Given the description of an element on the screen output the (x, y) to click on. 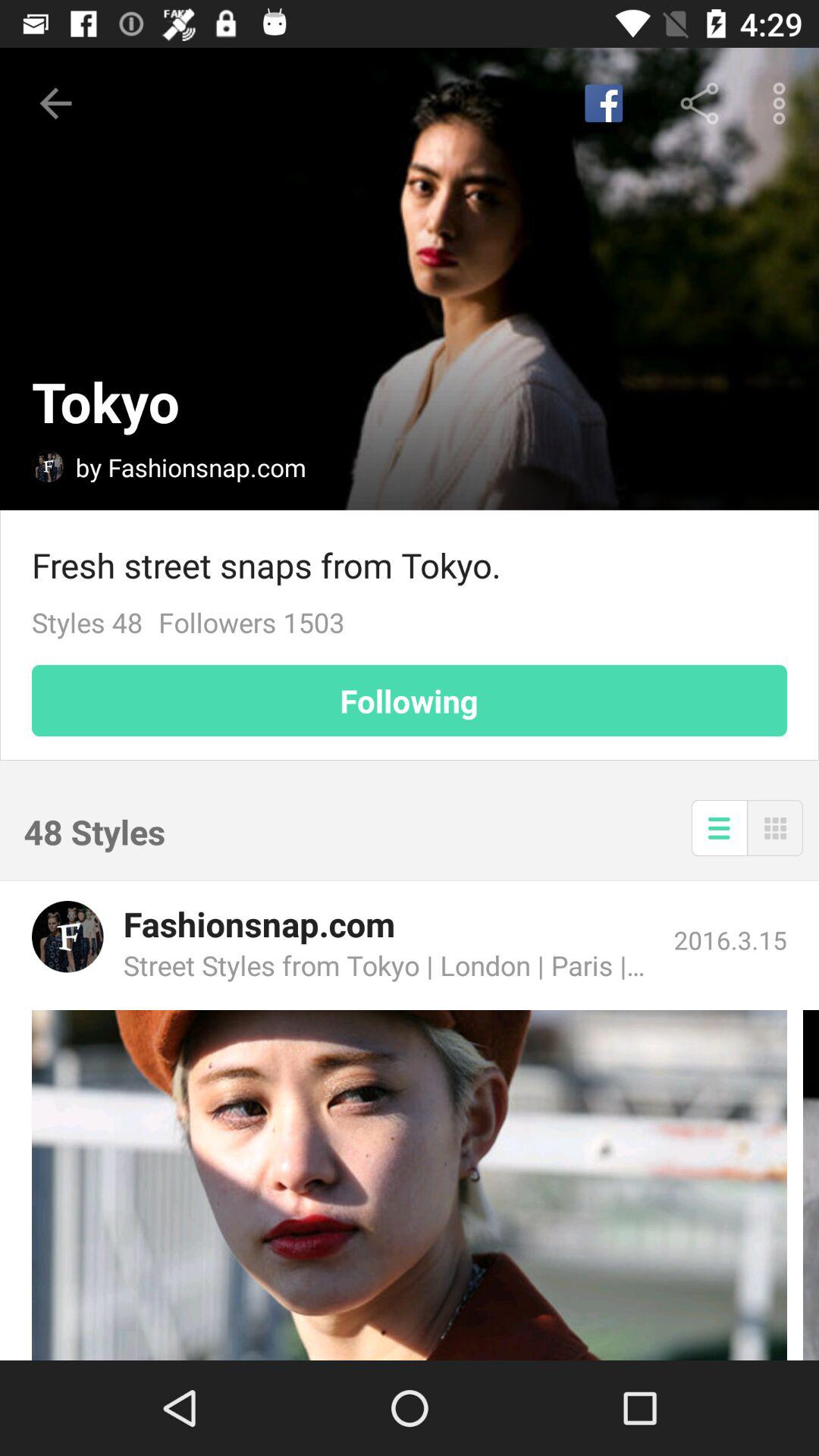
film actor (409, 1185)
